Given the description of an element on the screen output the (x, y) to click on. 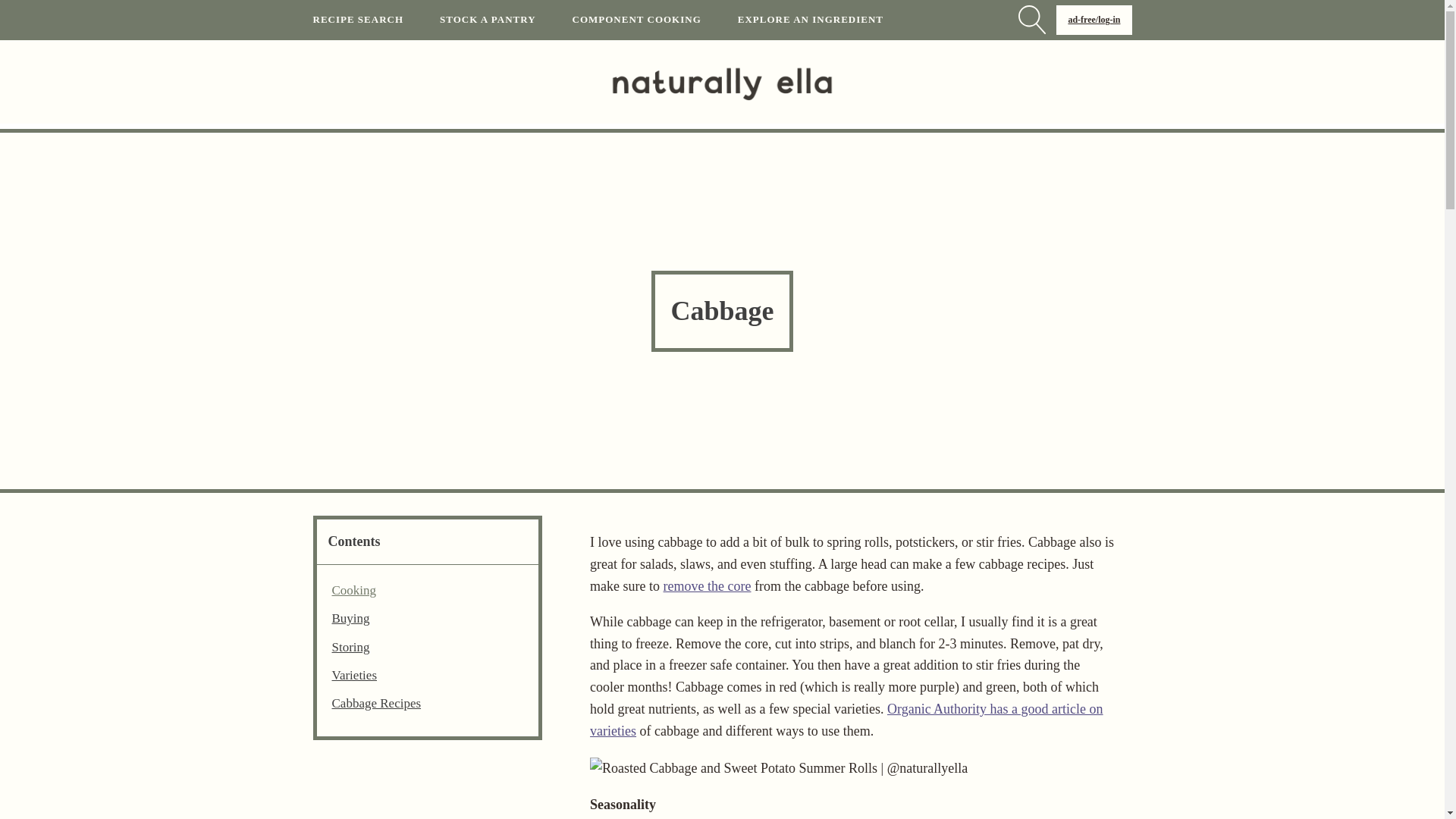
Search (25, 9)
COMPONENT COOKING (655, 20)
Cabbage Recipes (376, 702)
RECIPE SEARCH (376, 20)
Storing (350, 647)
EXPLORE AN INGREDIENT (829, 20)
Varieties (354, 675)
STOCK A PANTRY (505, 20)
remove the core (707, 585)
Cooking (354, 589)
